Given the description of an element on the screen output the (x, y) to click on. 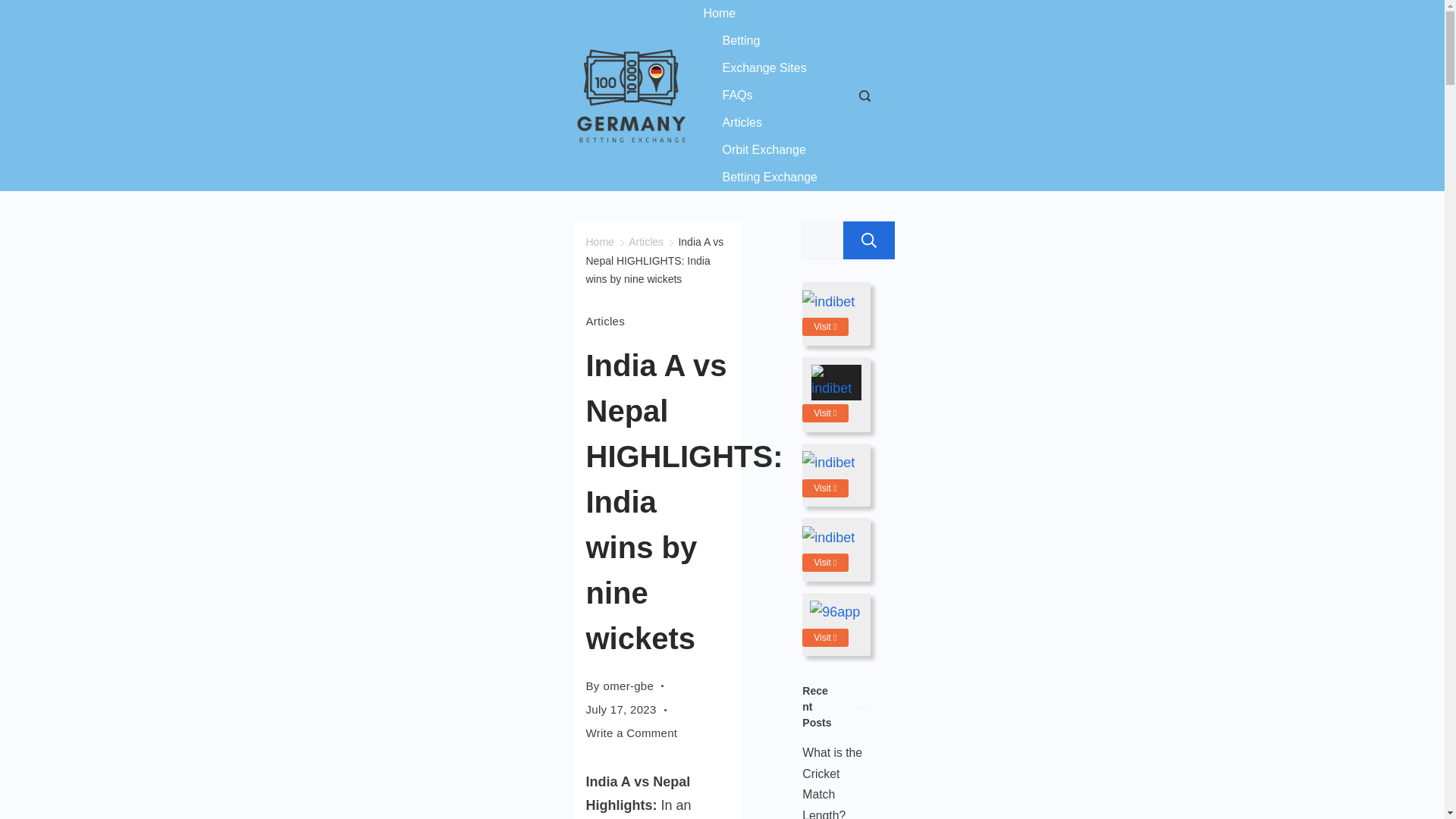
FAQs (737, 94)
Articles (645, 241)
Home (598, 241)
India A vs Nepal HIGHLIGHTS: India wins by nine wickets (654, 260)
Articles (741, 122)
Betting Exchange (759, 176)
Home (729, 13)
Betting Exchange Sites (765, 54)
Articles (604, 320)
Orbit Exchange (764, 149)
omer-gbe (628, 685)
